Given the description of an element on the screen output the (x, y) to click on. 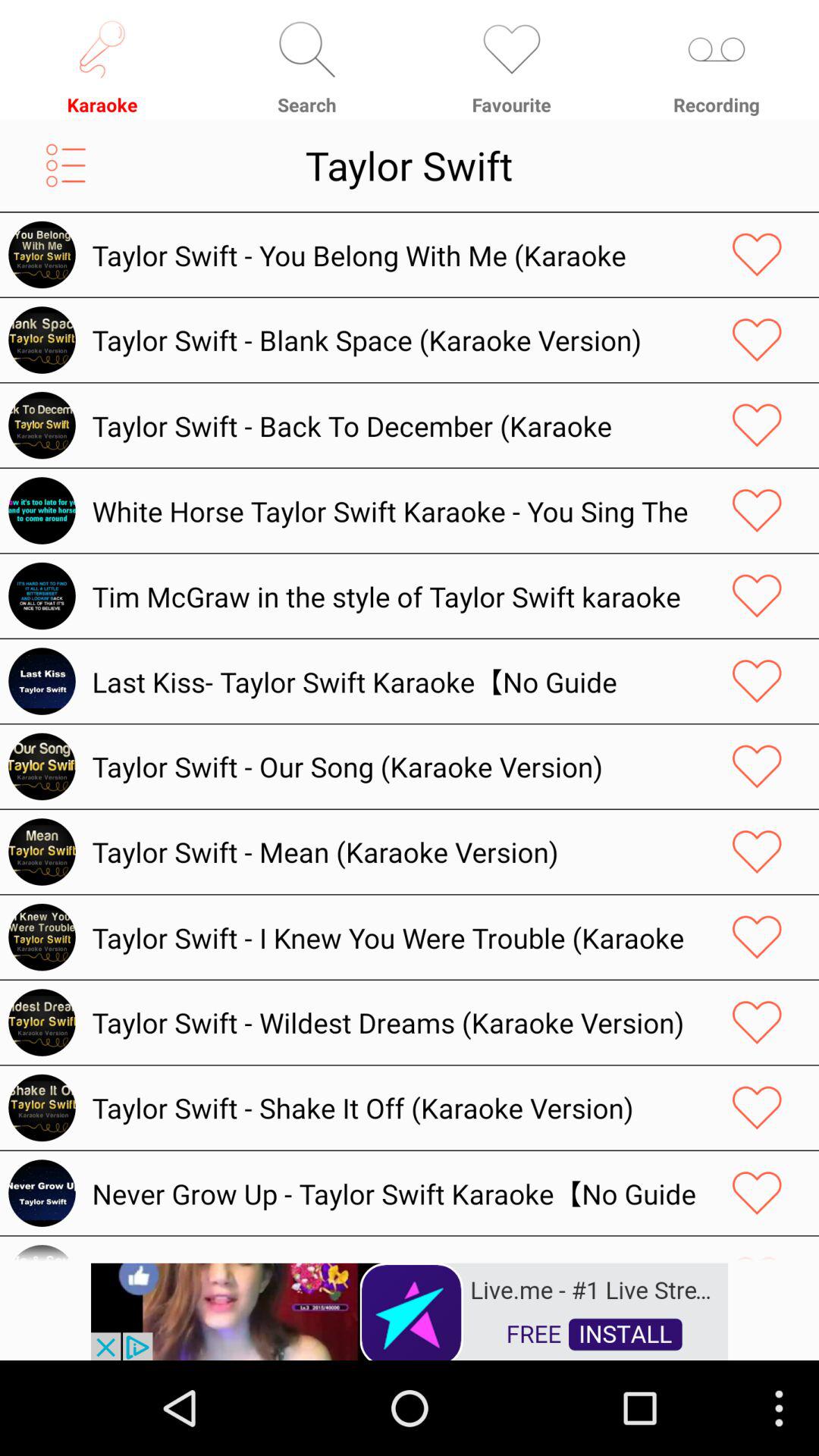
toggle favorite option (756, 681)
